Given the description of an element on the screen output the (x, y) to click on. 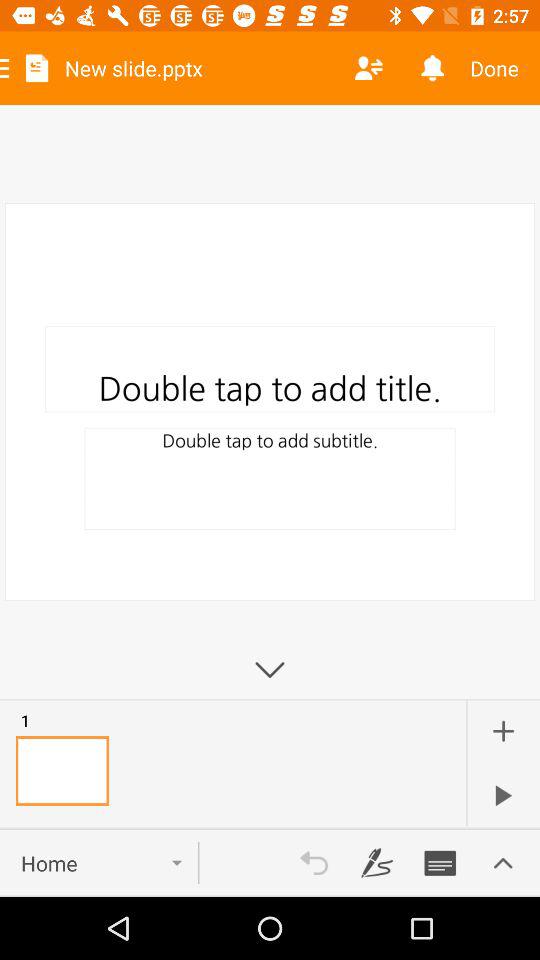
switch undo option (314, 863)
